Given the description of an element on the screen output the (x, y) to click on. 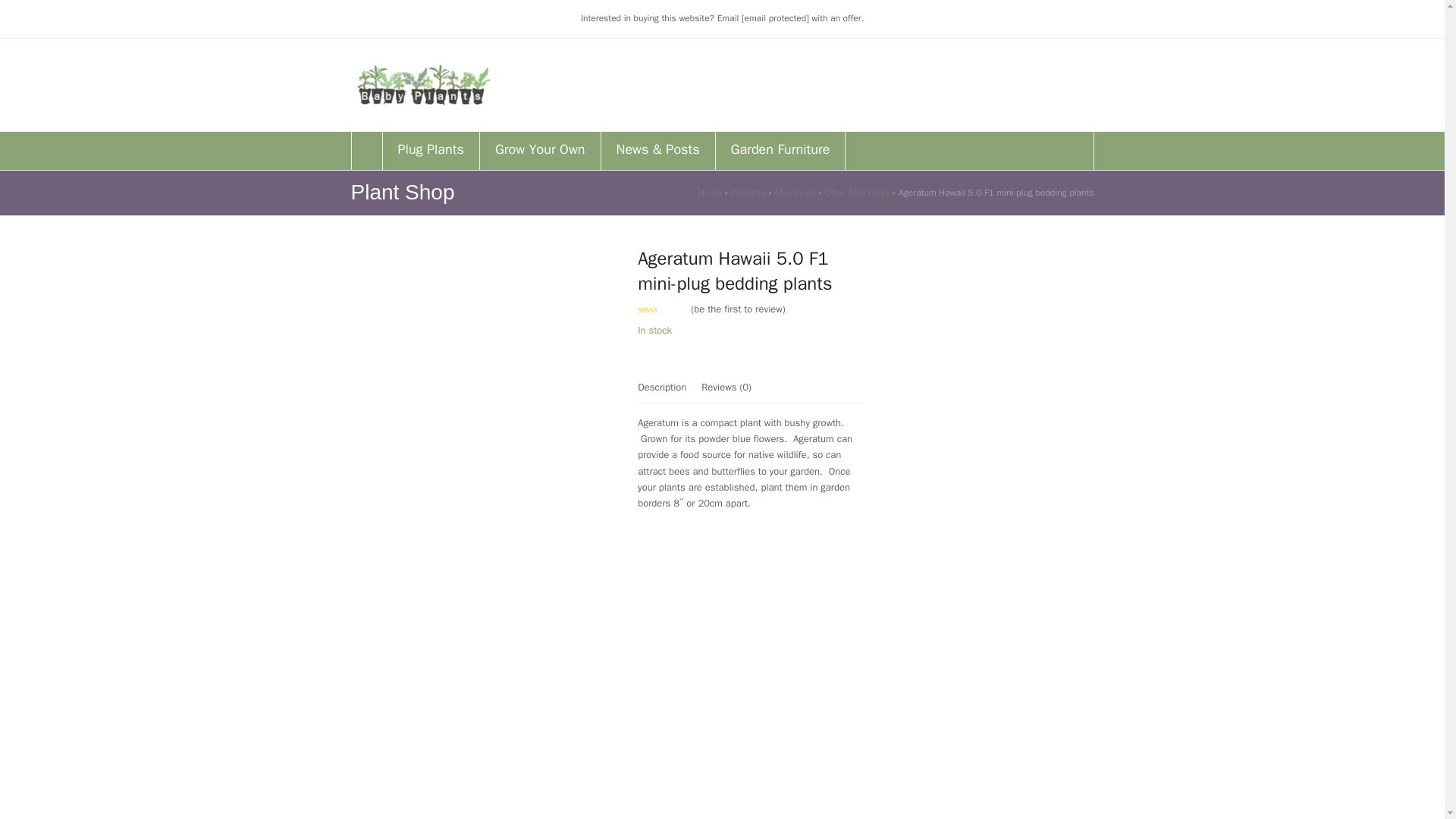
Plug Plants (430, 150)
